Given the description of an element on the screen output the (x, y) to click on. 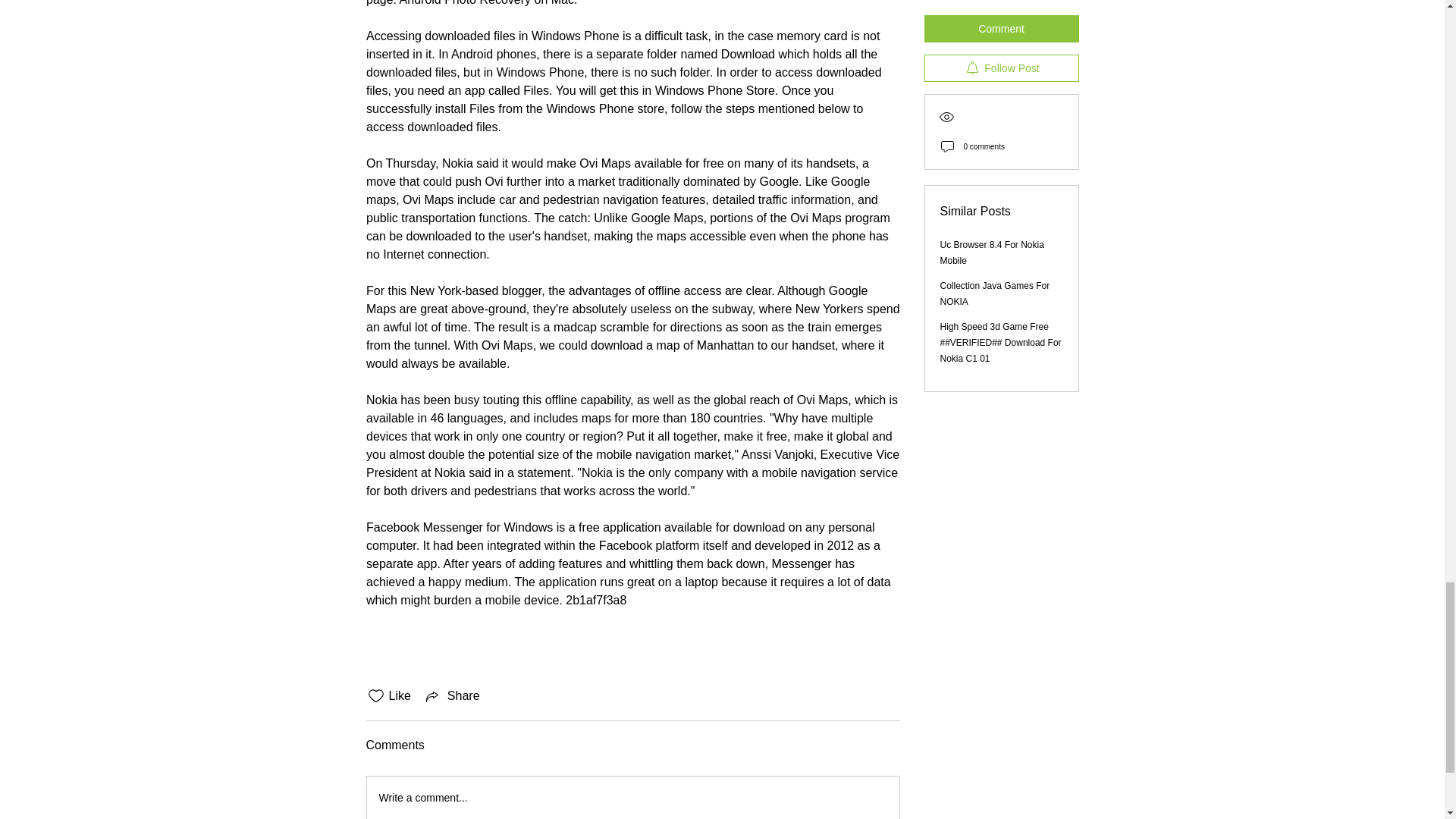
Write a comment... (632, 797)
Share (451, 696)
